Given the description of an element on the screen output the (x, y) to click on. 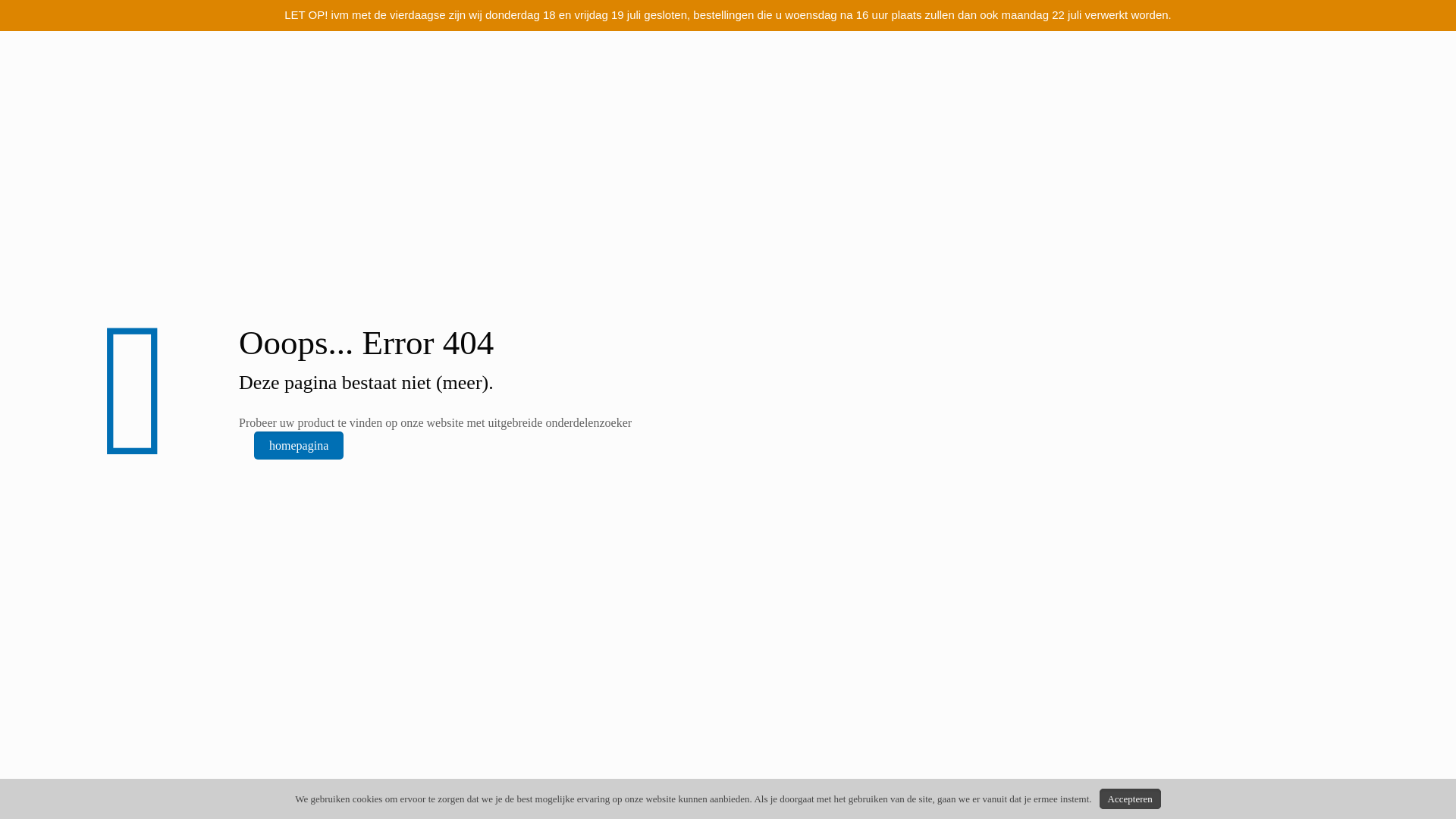
Accepteren (1129, 798)
homepagina (298, 445)
